Given the description of an element on the screen output the (x, y) to click on. 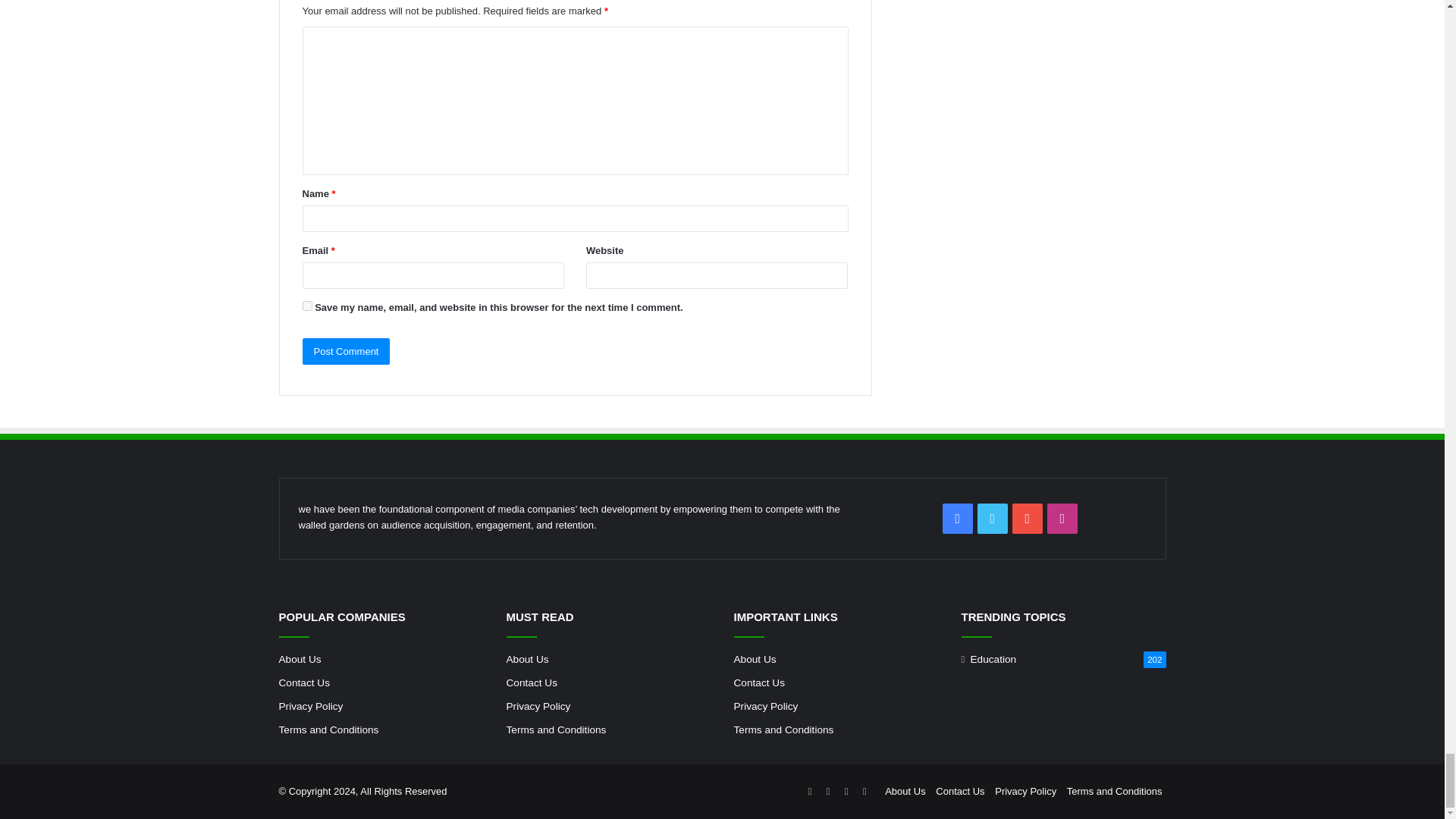
yes (306, 306)
Post Comment (345, 351)
